Given the description of an element on the screen output the (x, y) to click on. 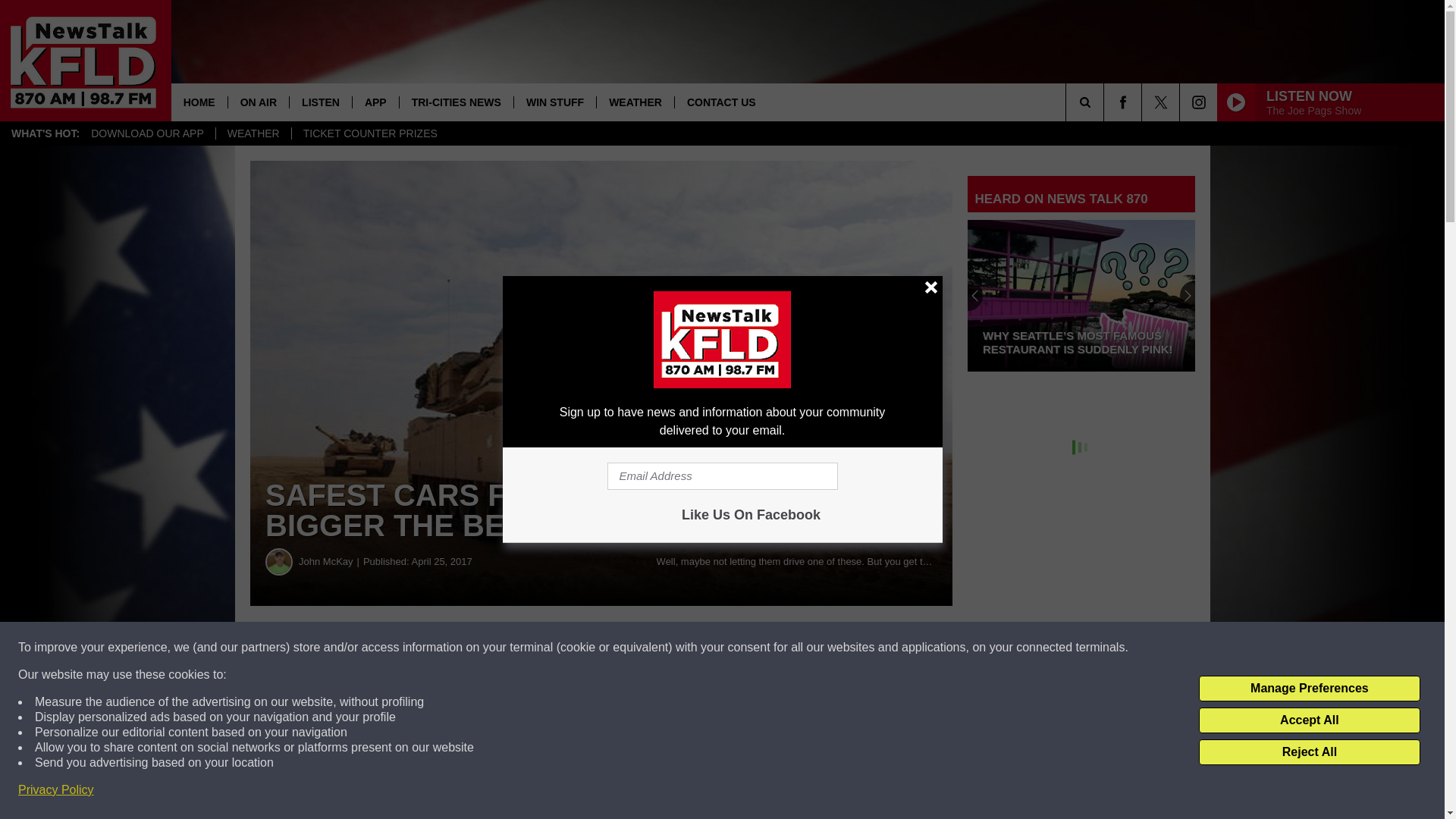
Share on Facebook (460, 647)
LISTEN (320, 102)
HOME (199, 102)
TRI-CITIES NEWS (455, 102)
Accept All (1309, 720)
ON AIR (257, 102)
Share on Twitter (741, 647)
WEATHER (634, 102)
APP (375, 102)
WIN STUFF (554, 102)
TICKET COUNTER PRIZES (369, 133)
Manage Preferences (1309, 688)
SEARCH (1106, 102)
Email Address (722, 475)
WEATHER (253, 133)
